Given the description of an element on the screen output the (x, y) to click on. 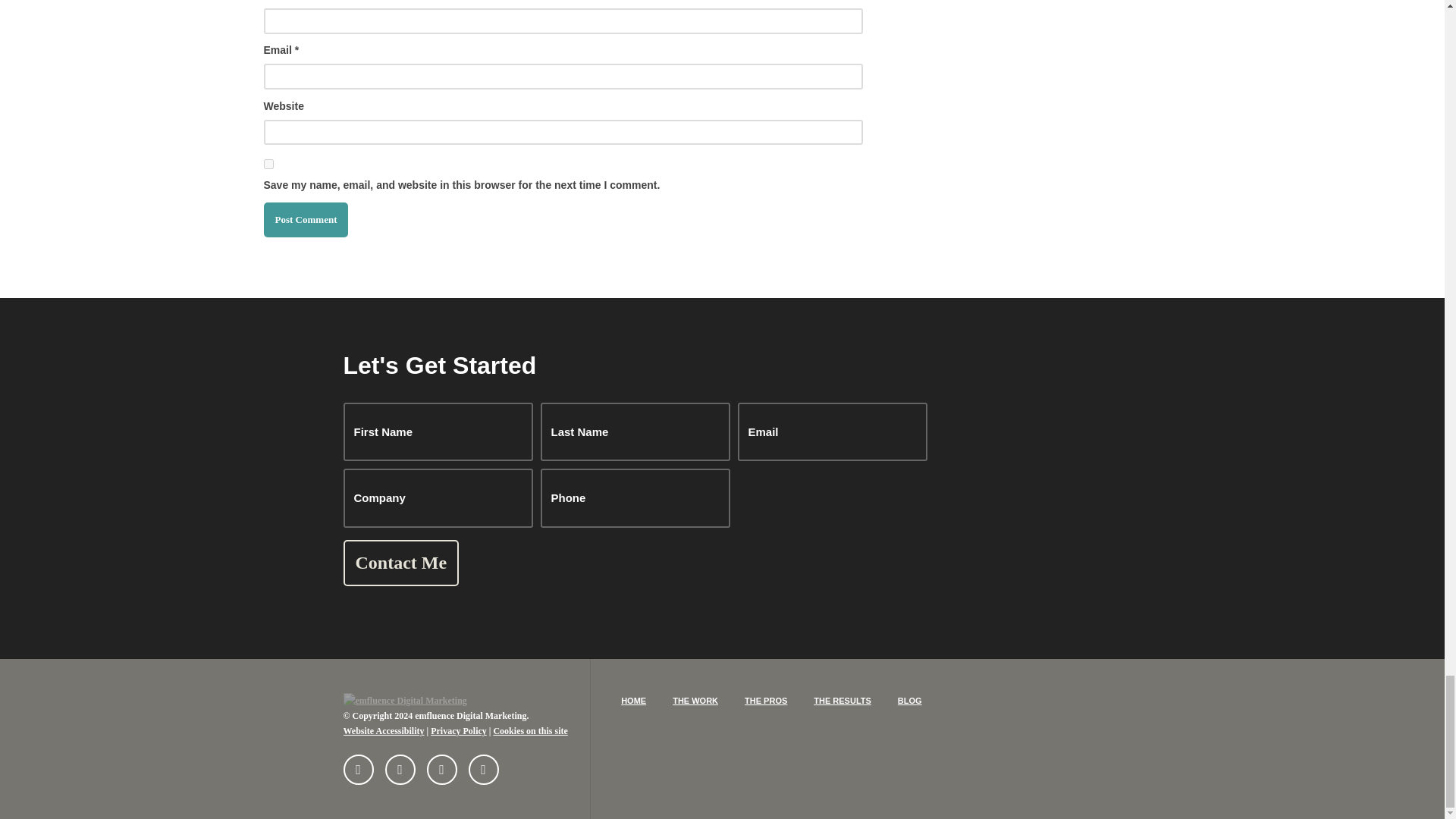
yes (268, 163)
Post Comment (306, 219)
Contact Me (400, 562)
